Given the description of an element on the screen output the (x, y) to click on. 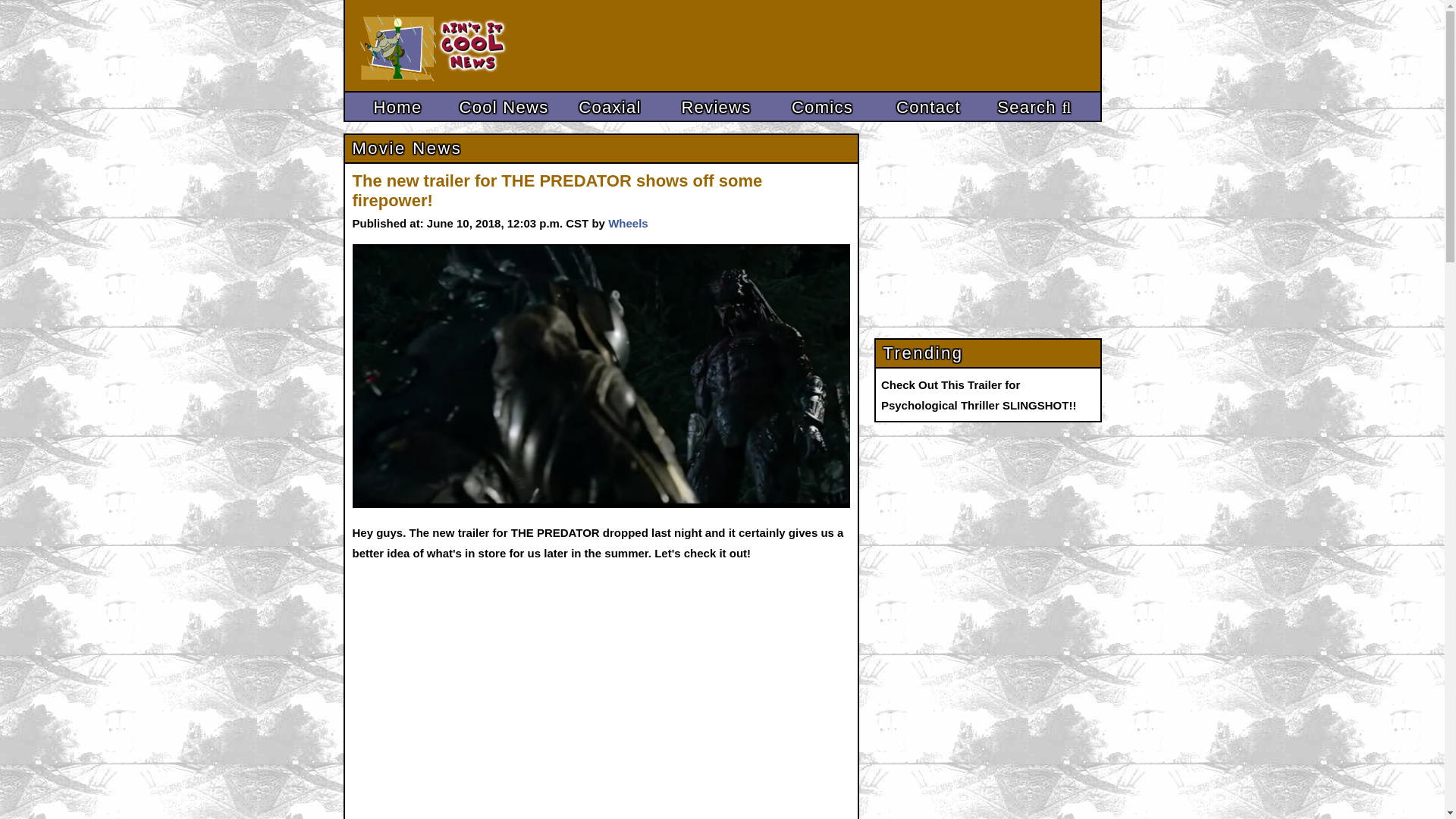
Comics (821, 107)
Ain't It Cool News (471, 45)
Wheels (627, 223)
Cool News (502, 107)
Contact (928, 107)
Home (396, 107)
Coaxial (609, 107)
Search (1034, 107)
Reviews (715, 107)
